Given the description of an element on the screen output the (x, y) to click on. 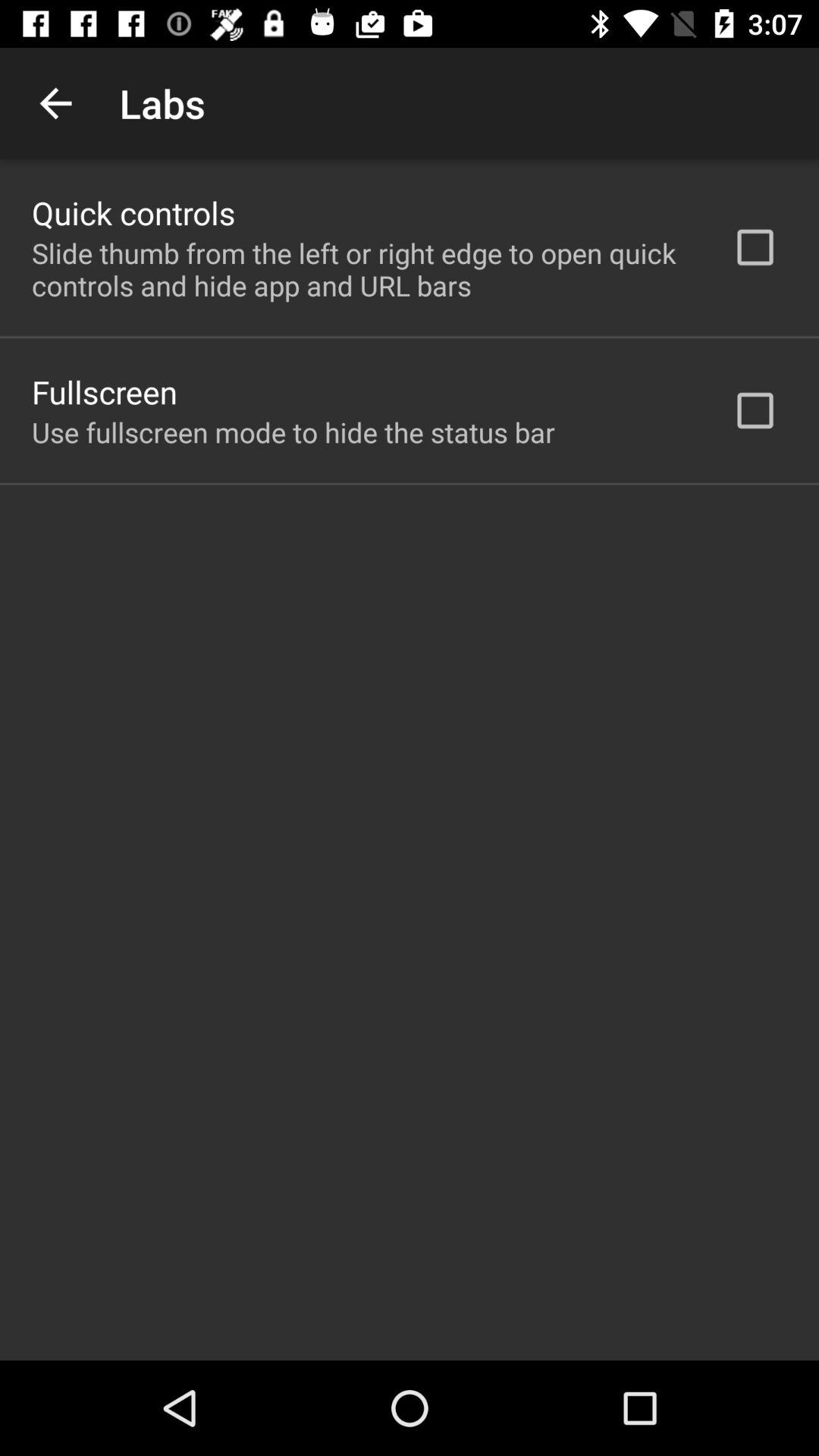
select app above the quick controls item (55, 103)
